Given the description of an element on the screen output the (x, y) to click on. 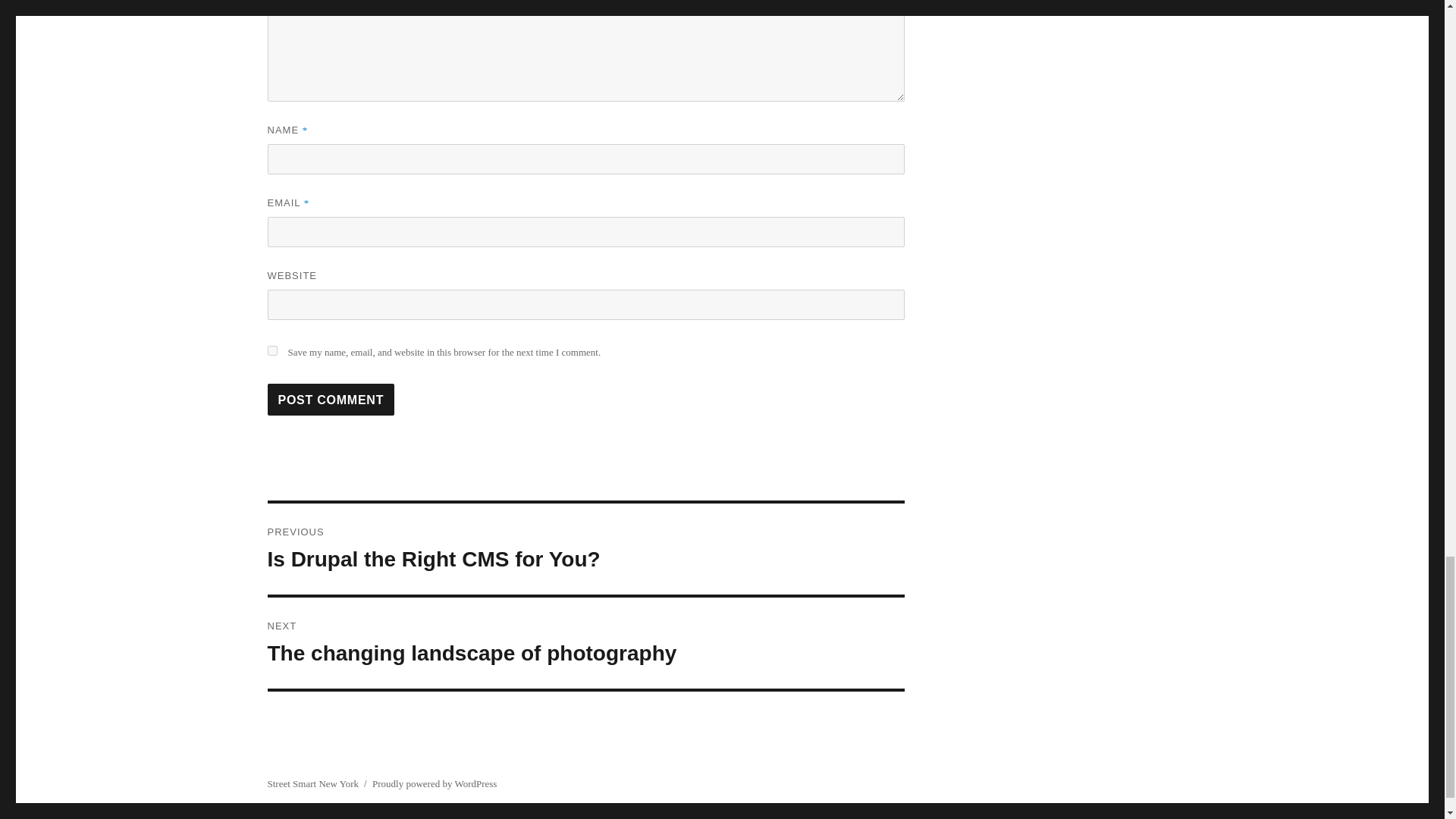
Proudly powered by WordPress (585, 548)
Post Comment (434, 783)
Street Smart New York (330, 399)
Post Comment (312, 783)
yes (330, 399)
